Given the description of an element on the screen output the (x, y) to click on. 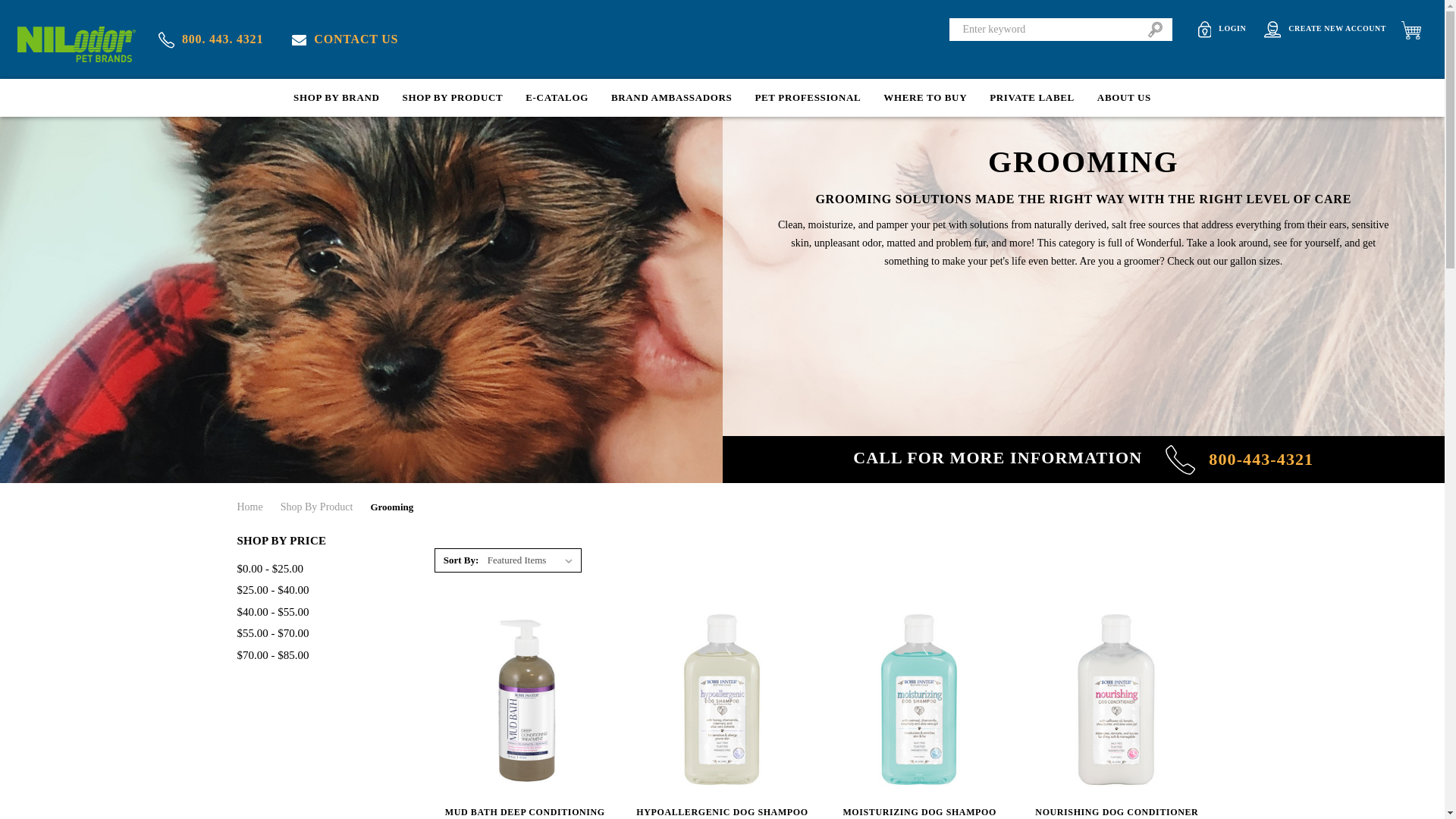
Mud Bath Deep Conditioning Treatment (524, 700)
Moisturizing Dog Shampoo (919, 700)
Hypoallergenic Dog Shampoo (721, 700)
Nilodor Pet Brands (76, 43)
LOGIN (1222, 29)
BRAND AMBASSADORS (671, 97)
CONTACT US (345, 38)
800. 443. 4321 (211, 38)
Nourishing Dog Conditioner (1116, 700)
E-CATALOG (556, 97)
